Given the description of an element on the screen output the (x, y) to click on. 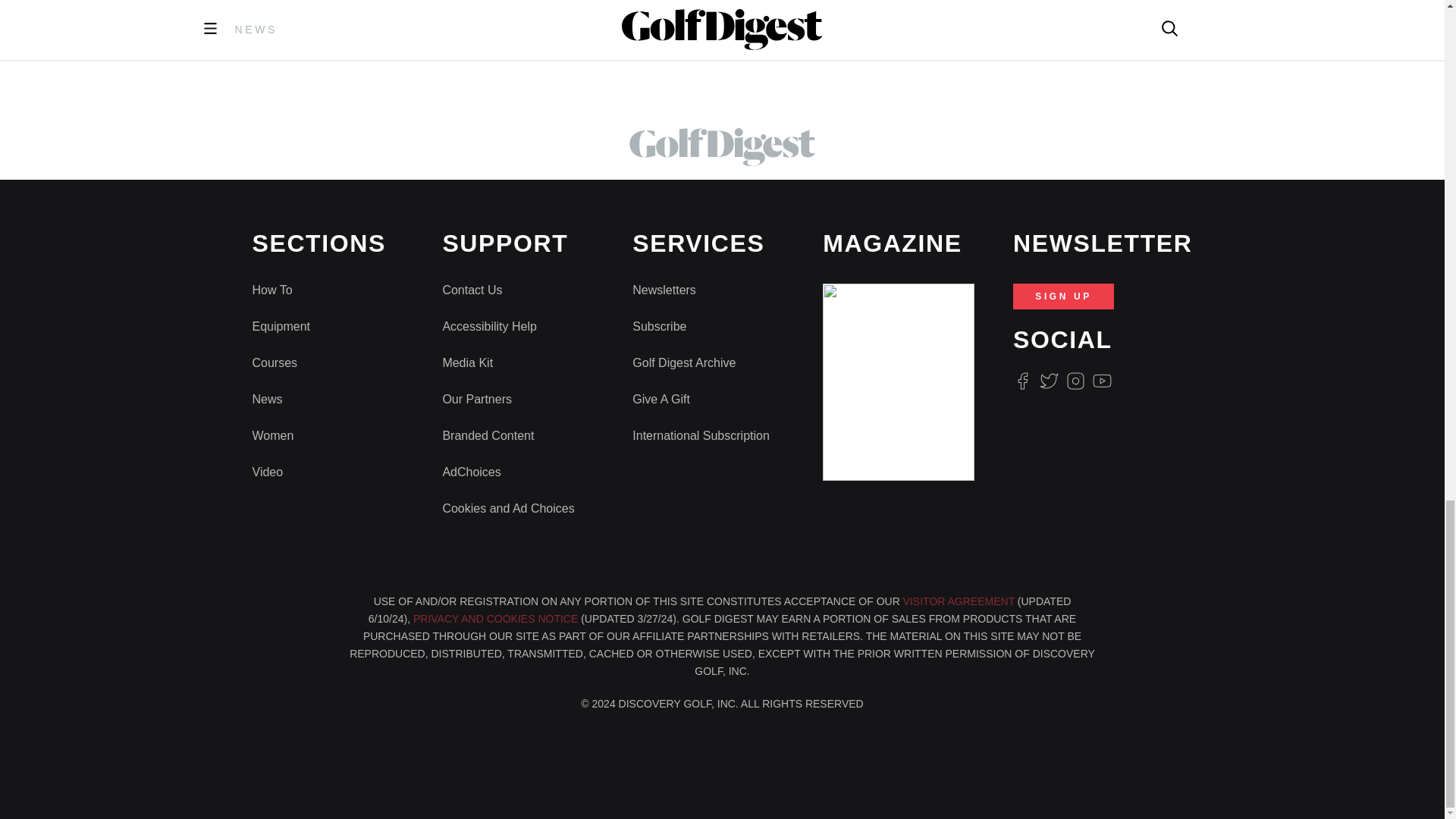
Twitter Logo (1048, 380)
Instagram Logo (1074, 380)
Facebook Logo (1022, 380)
Youtube Icon (1102, 380)
